Given the description of an element on the screen output the (x, y) to click on. 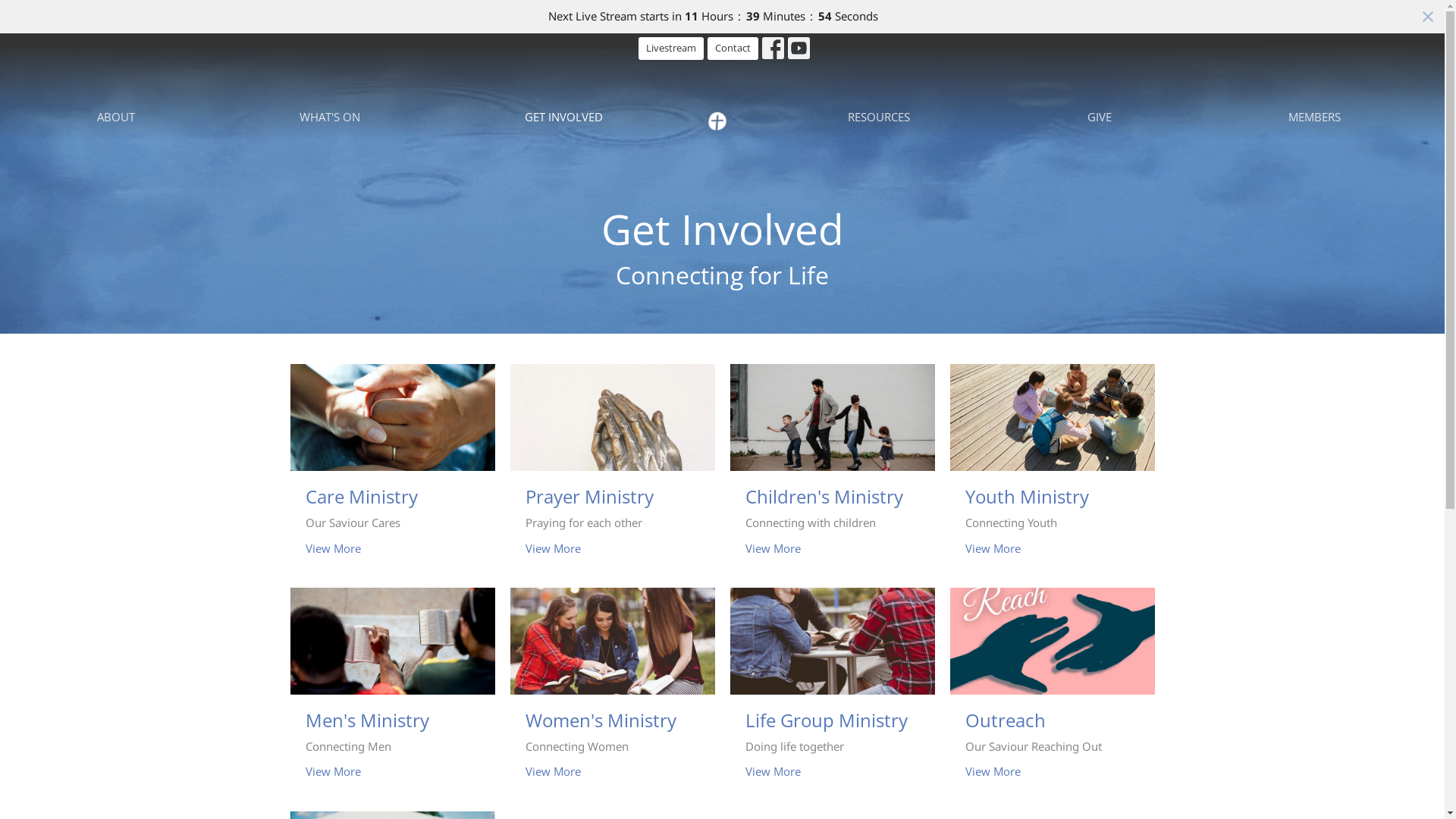
Livestream Element type: text (670, 48)
Women's Ministry
Connecting Women
View More Element type: text (611, 691)
Youth Ministry
Connecting Youth
View More Element type: text (1051, 468)
GET INVOLVED Element type: text (563, 116)
MEMBERS Element type: text (1314, 116)
Outreach
Our Saviour Reaching Out
View More Element type: text (1051, 691)
Contact Element type: text (732, 48)
Men's Ministry
Connecting Men
View More Element type: text (391, 691)
RESOURCES Element type: text (878, 116)
GIVE Element type: text (1099, 116)
Prayer Ministry
Praying for each other
View More Element type: text (611, 468)
Life Group Ministry
Doing life together
View More Element type: text (831, 691)
Children's Ministry
Connecting with children
View More Element type: text (831, 468)
WHAT'S ON Element type: text (329, 116)
ABOUT Element type: text (115, 116)
Care Ministry
Our Saviour Cares
View More Element type: text (391, 468)
